Given the description of an element on the screen output the (x, y) to click on. 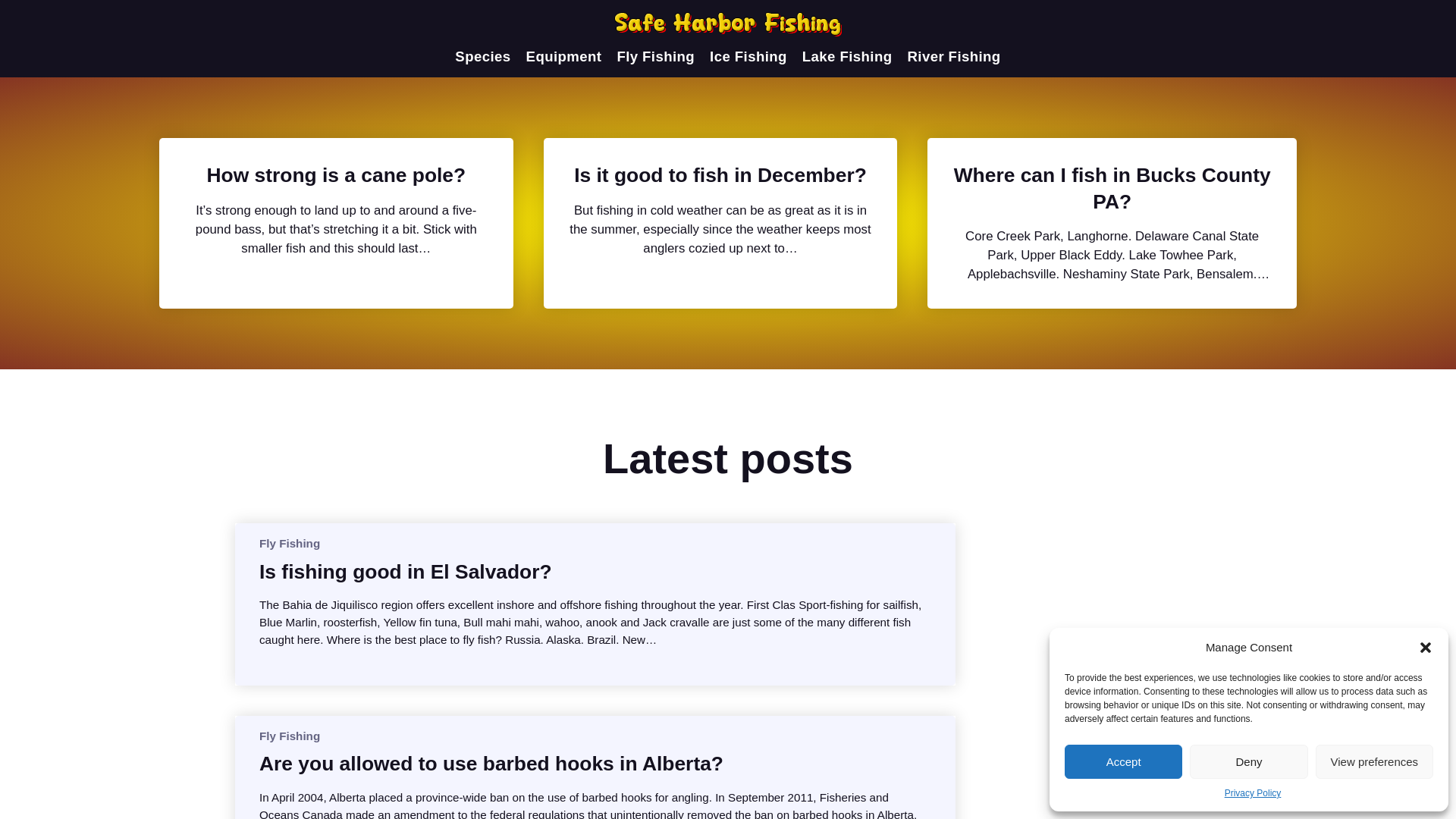
Deny (1248, 761)
Is it good to fish in December? (719, 175)
Lake Fishing (847, 56)
Species (482, 56)
Fly Fishing (289, 543)
Where can I fish in Bucks County PA? (1112, 188)
View preferences (1374, 761)
Equipment (563, 56)
Ice Fishing (748, 56)
How strong is a cane pole? (335, 175)
Privacy Policy (1252, 793)
Accept (1123, 761)
Are you allowed to use barbed hooks in Alberta? (491, 763)
Fly Fishing (289, 735)
Is fishing good in El Salvador? (405, 571)
